Given the description of an element on the screen output the (x, y) to click on. 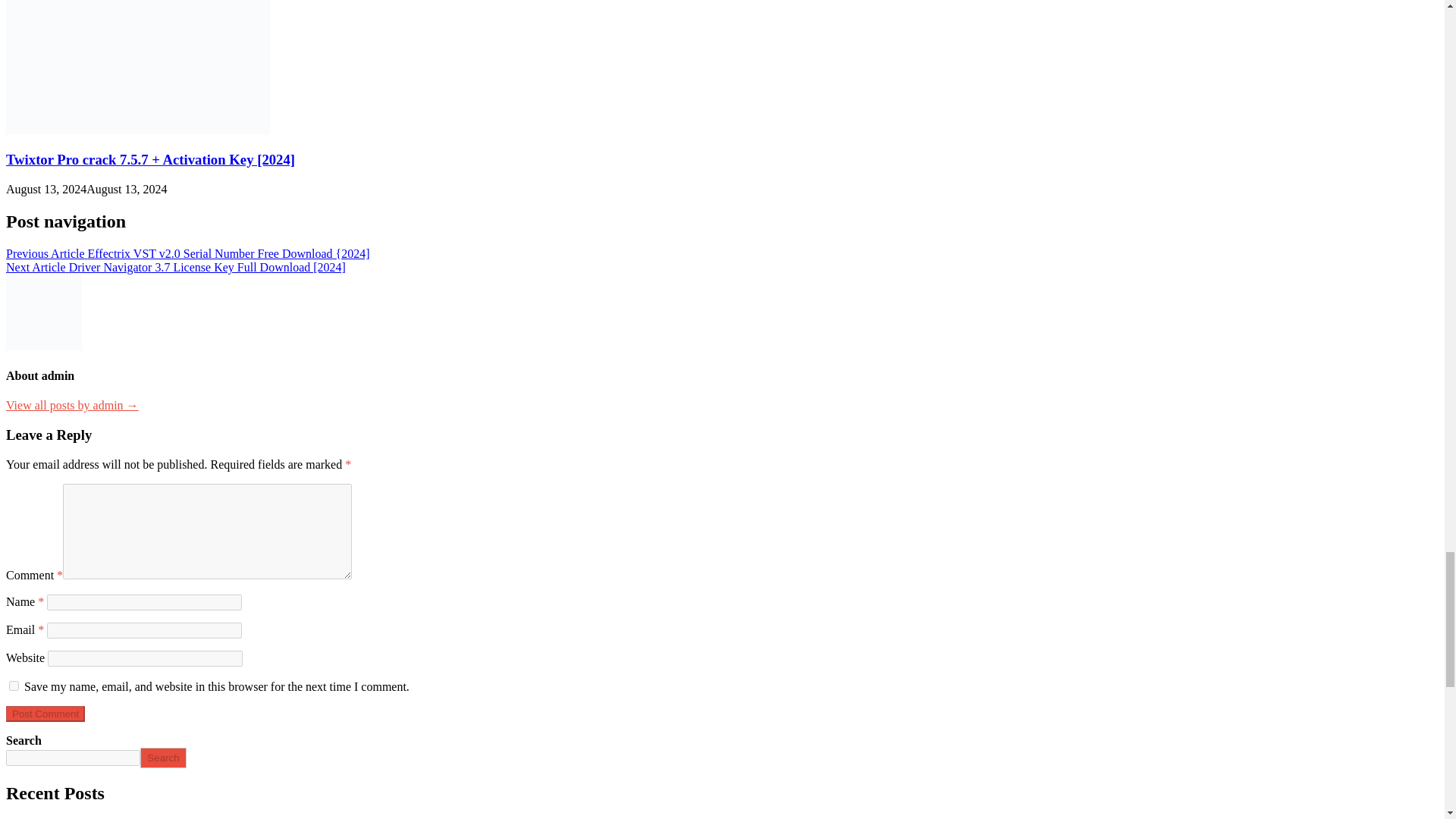
yes (13, 685)
admin (71, 404)
Post Comment (44, 713)
